Given the description of an element on the screen output the (x, y) to click on. 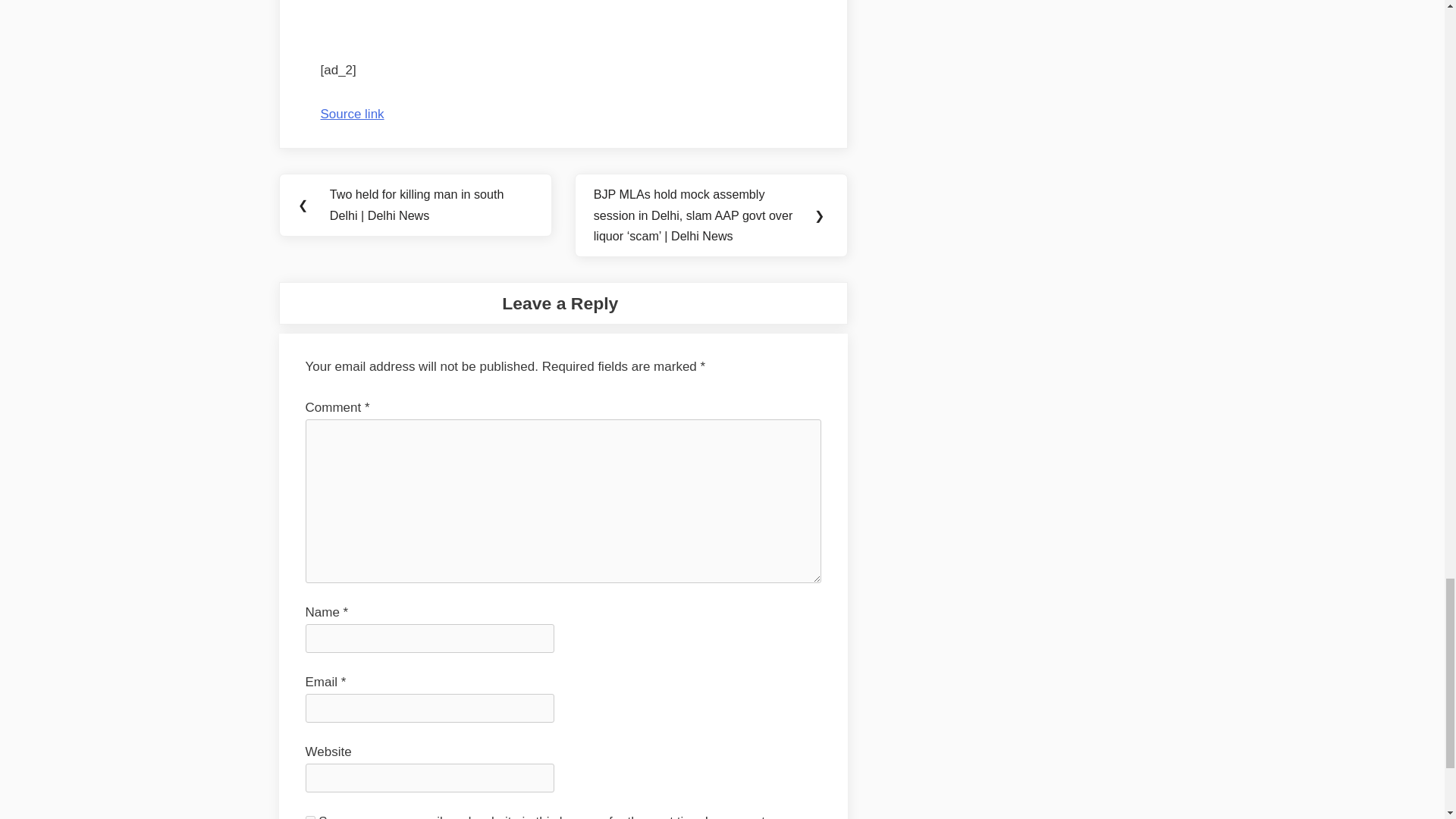
yes (309, 817)
Source link (352, 114)
